Given the description of an element on the screen output the (x, y) to click on. 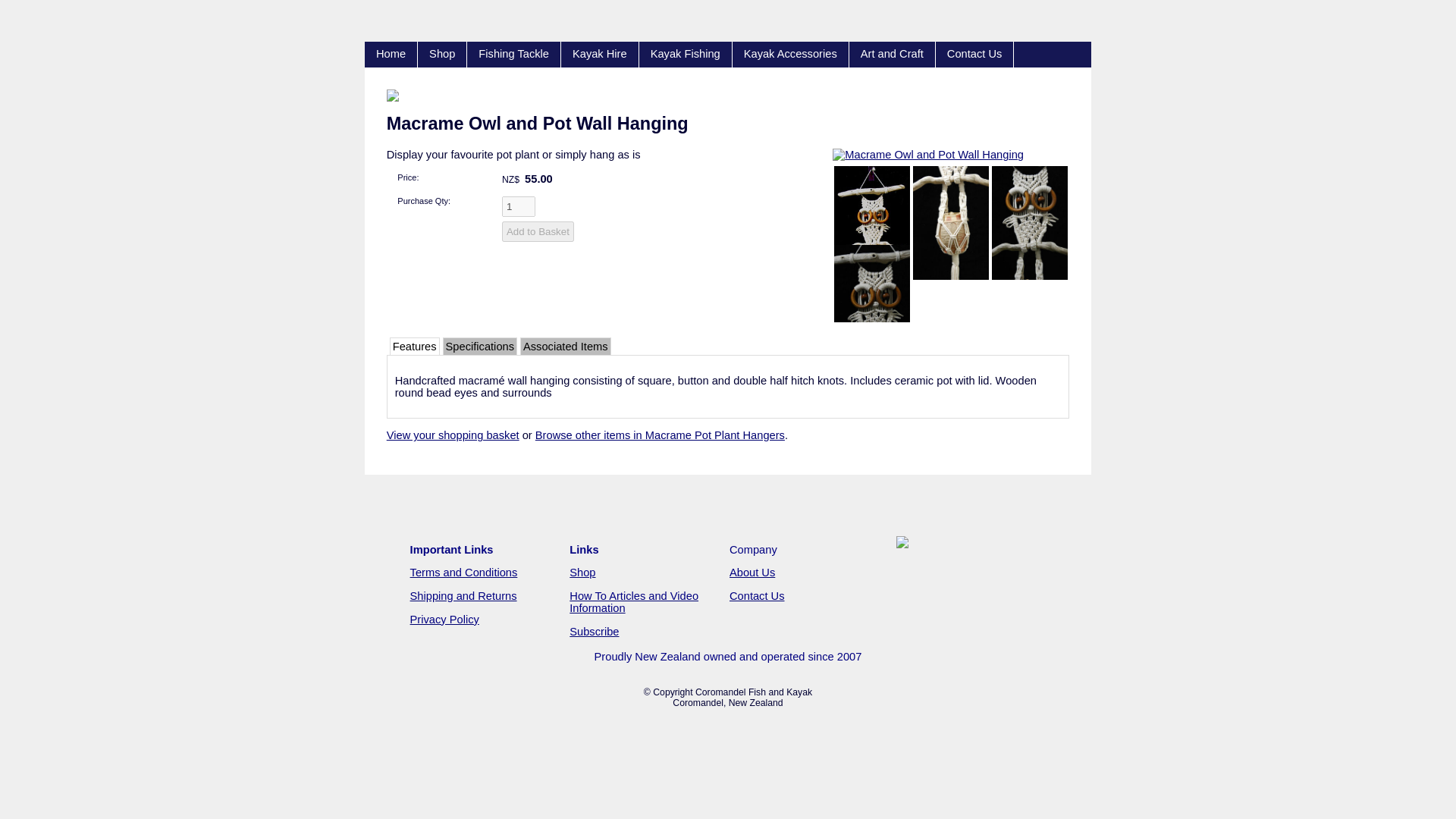
Add to Basket (537, 231)
Shop (442, 54)
Home (391, 54)
1 (518, 206)
Macrame Owl and Pot Wall Hanging (927, 154)
